Given the description of an element on the screen output the (x, y) to click on. 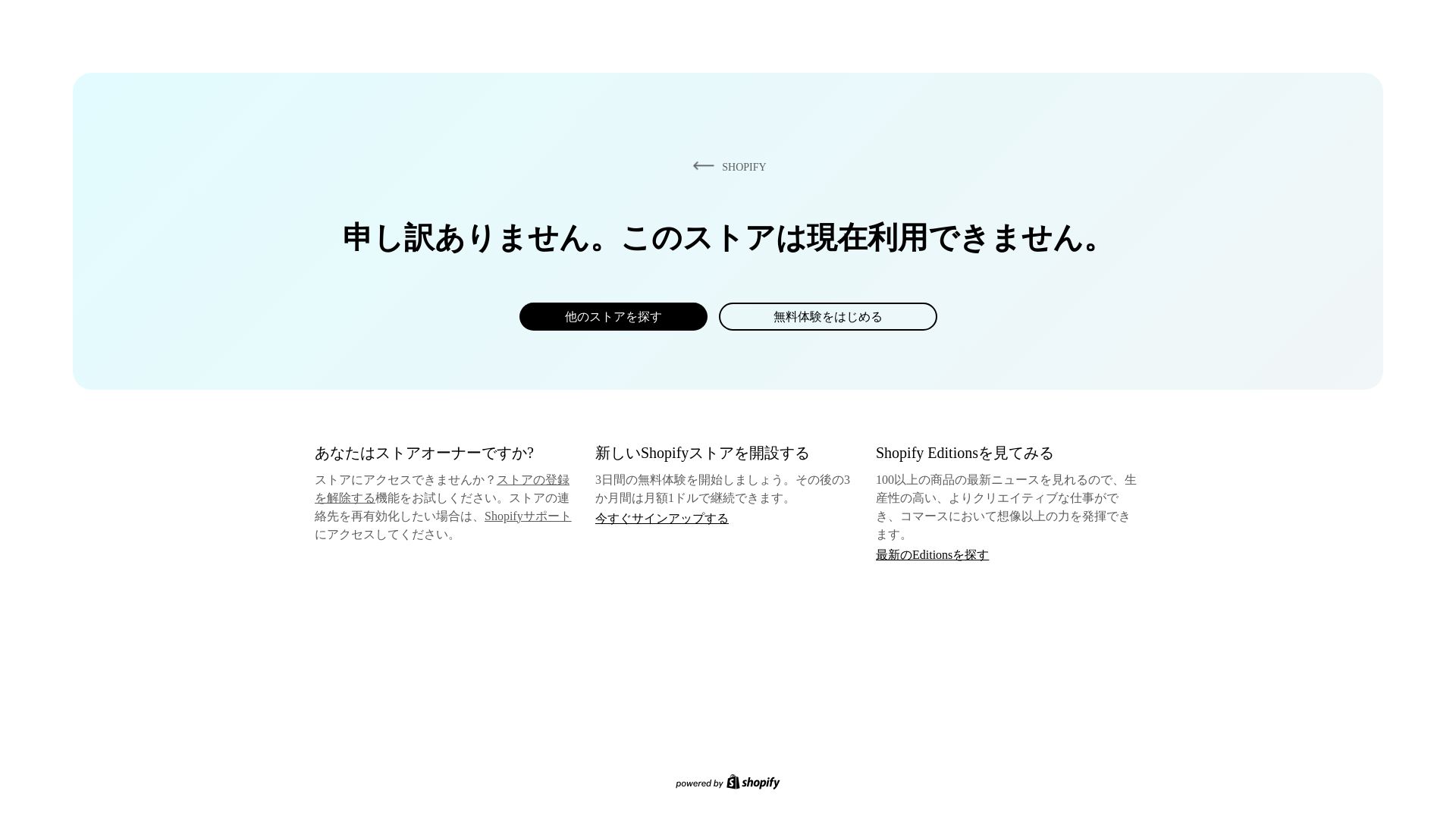
SHOPIFY (726, 166)
